Given the description of an element on the screen output the (x, y) to click on. 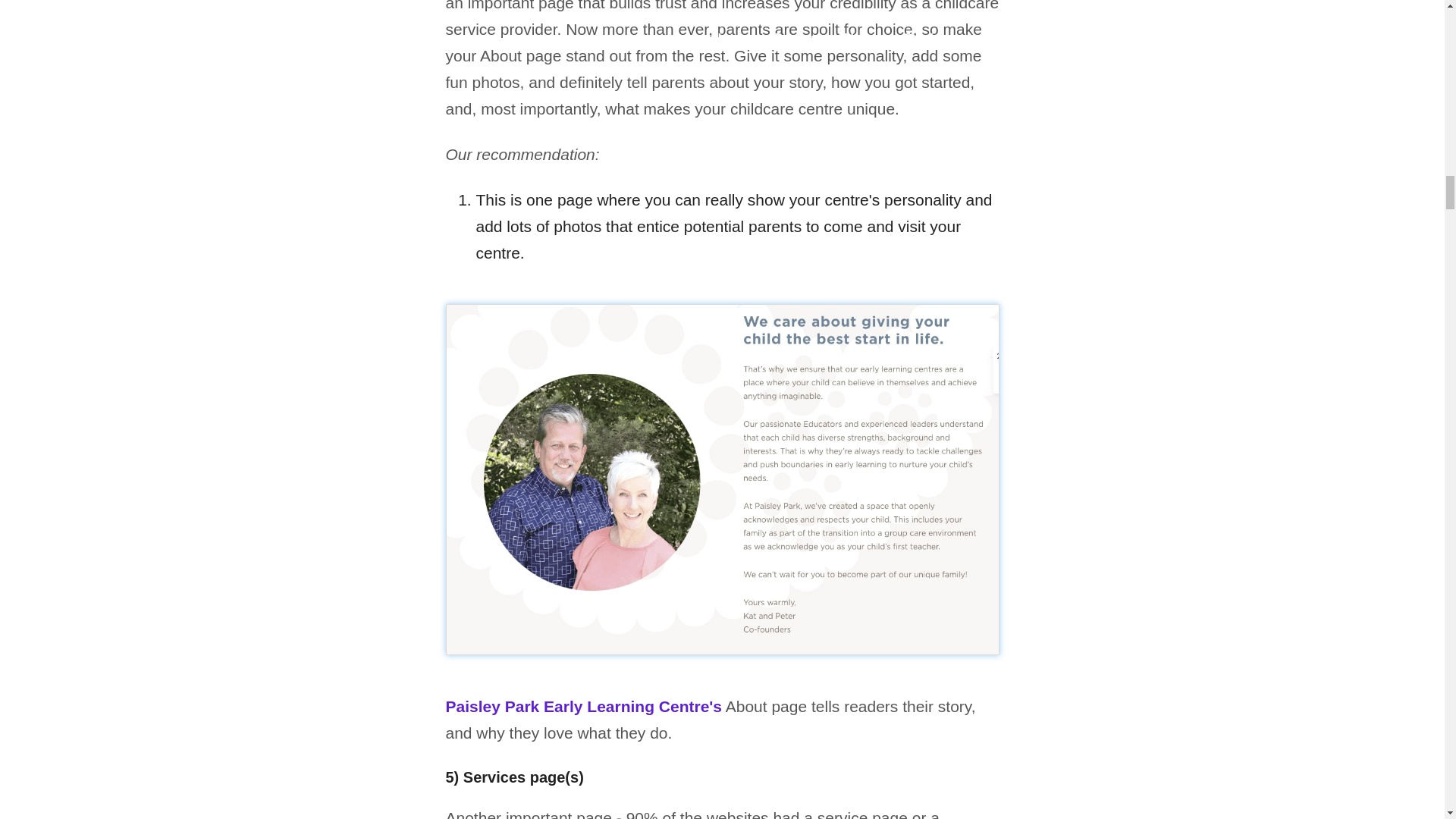
Paisley Park Early Learning Centre's (583, 705)
